Given the description of an element on the screen output the (x, y) to click on. 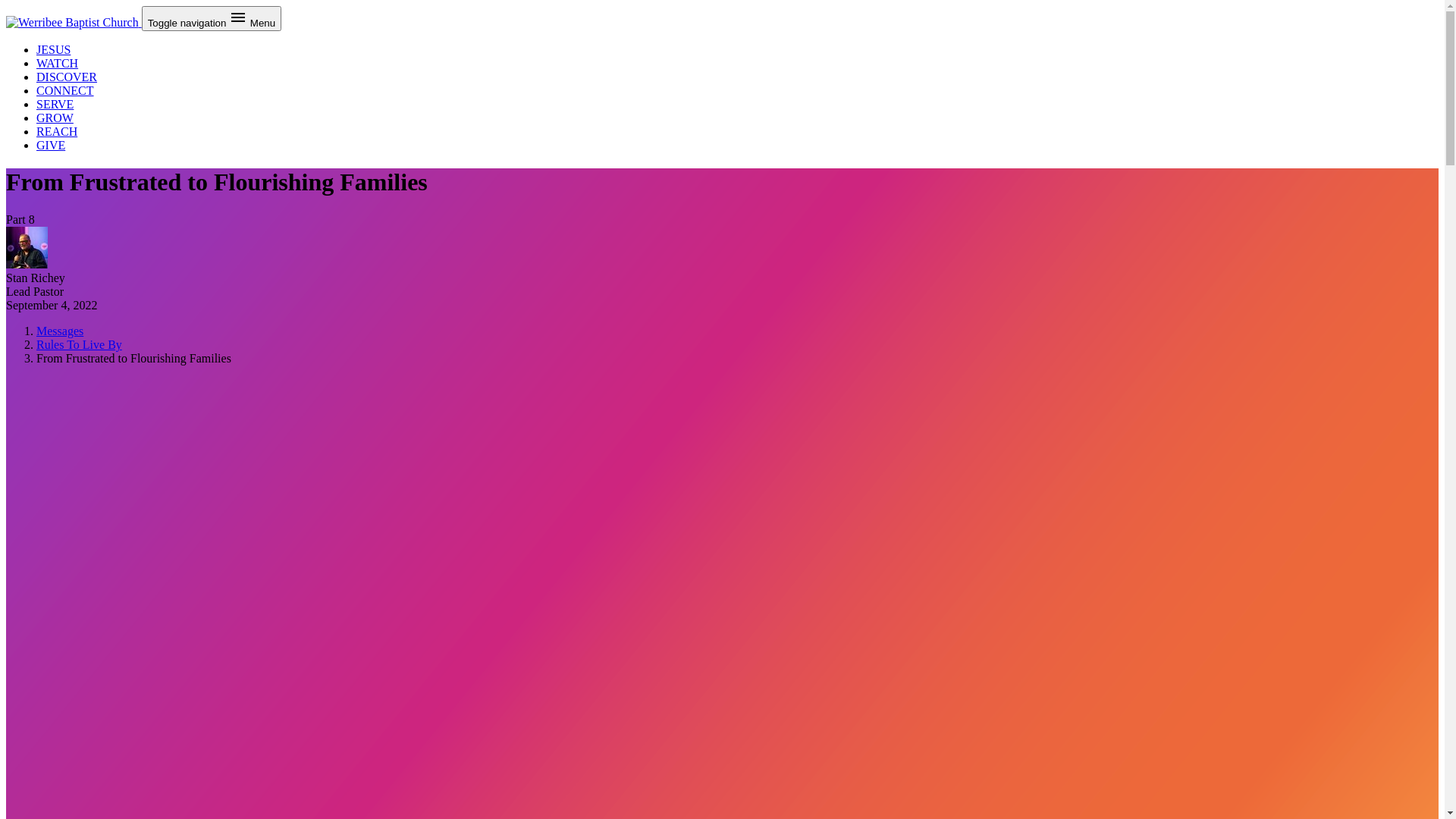
SERVE Element type: text (54, 103)
Rules To Live By Element type: text (79, 344)
DISCOVER Element type: text (66, 76)
CONNECT Element type: text (65, 90)
GIVE Element type: text (50, 144)
GROW Element type: text (54, 117)
Messages Element type: text (59, 330)
WATCH Element type: text (57, 62)
REACH Element type: text (56, 131)
JESUS Element type: text (53, 49)
Toggle navigation Menu Element type: text (211, 18)
